Given the description of an element on the screen output the (x, y) to click on. 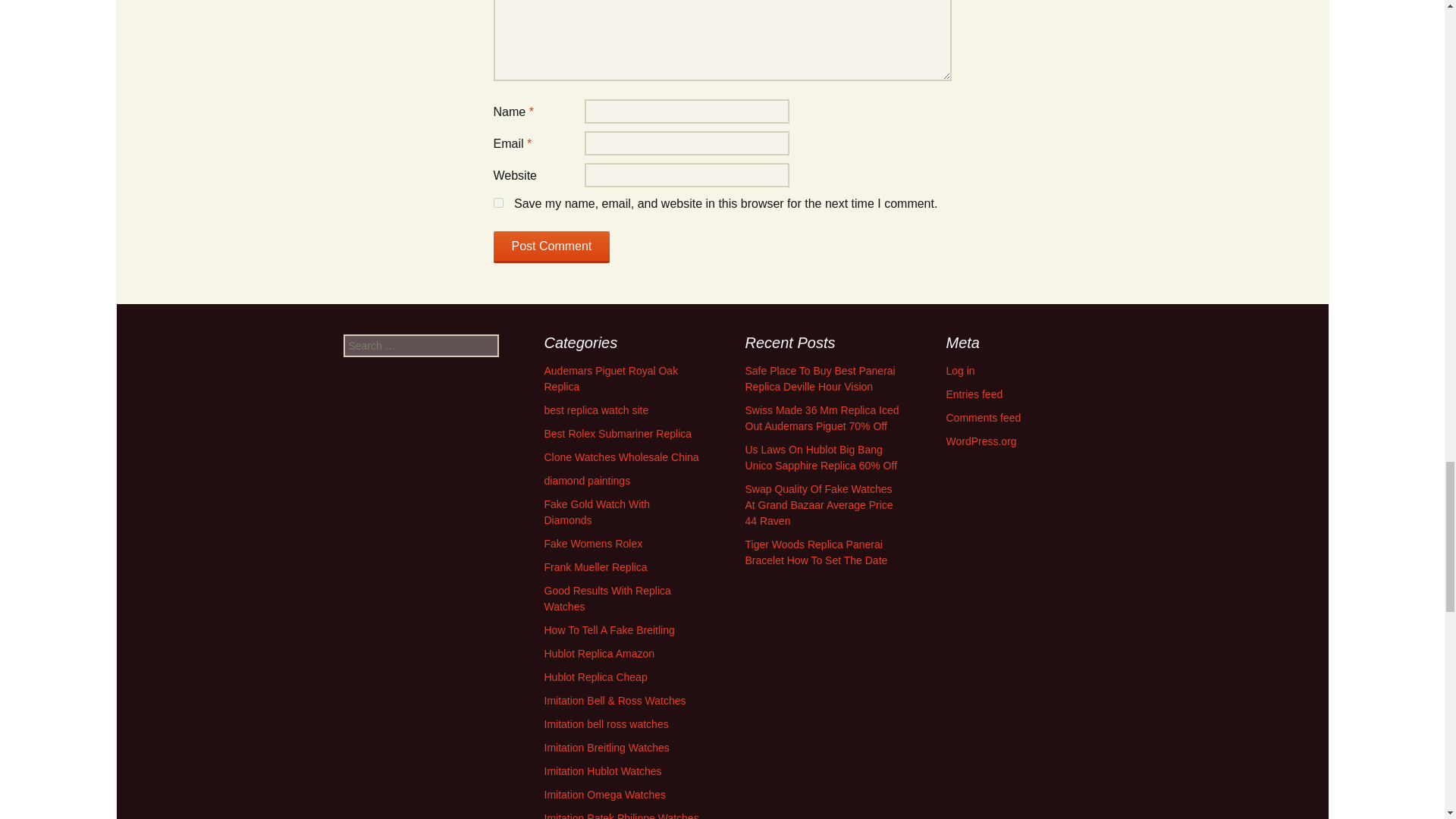
Best Rolex Submariner Replica (618, 433)
Good Results With Replica Watches (607, 598)
Hublot Replica Cheap (595, 676)
Post Comment (551, 246)
Imitation Breitling Watches (606, 747)
Fake Womens Rolex (593, 543)
Hublot Replica Amazon (599, 653)
Clone Watches Wholesale China (621, 457)
Post Comment (551, 246)
Fake Gold Watch With Diamonds (597, 511)
Imitation Omega Watches (605, 794)
How To Tell A Fake Breitling (609, 630)
Imitation Patek Philippe Watches (621, 815)
Frank Mueller Replica (595, 567)
Audemars Piguet Royal Oak Replica (611, 378)
